Given the description of an element on the screen output the (x, y) to click on. 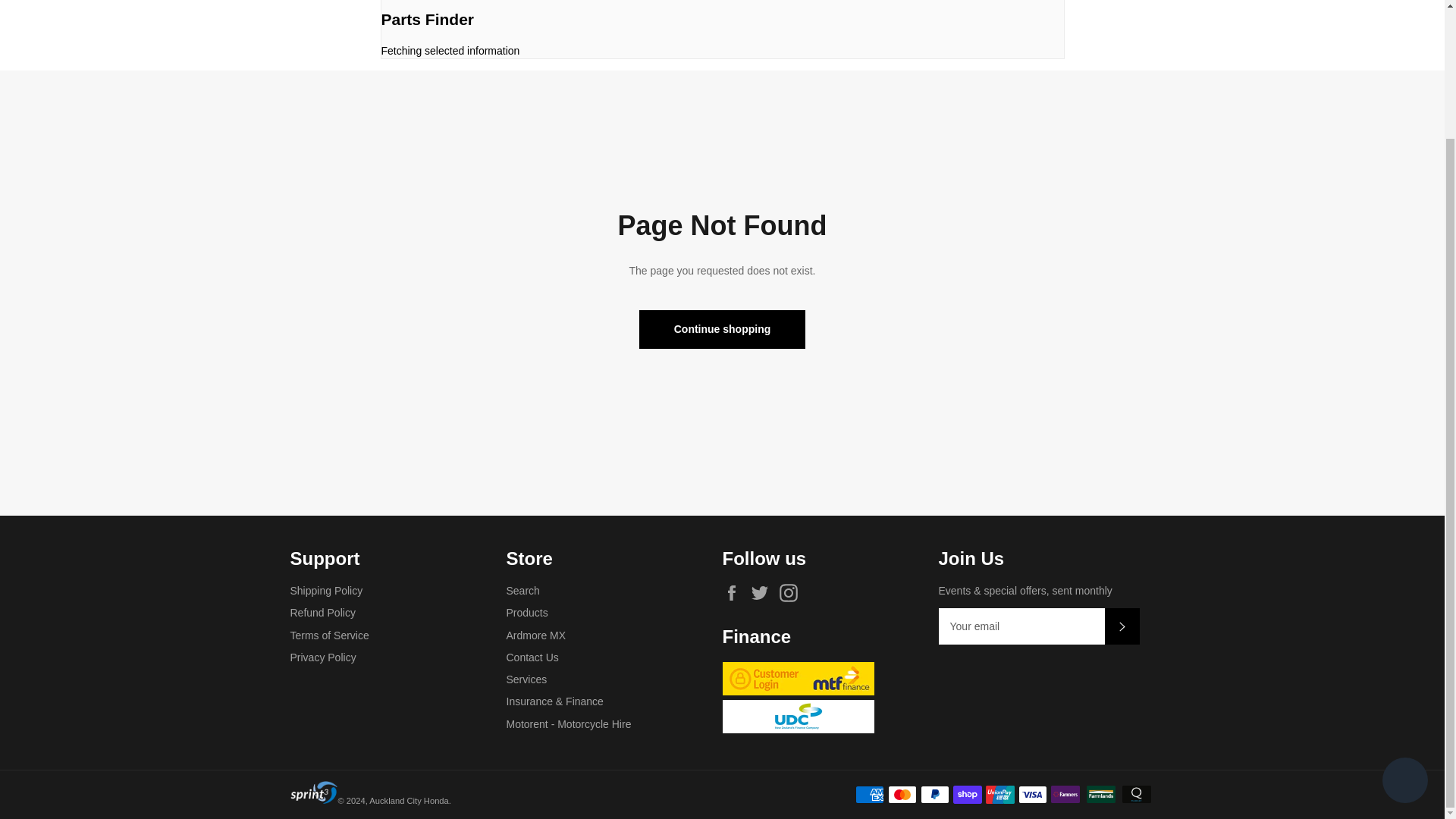
Auckland City Honda on Twitter (763, 592)
Shopify online store chat (1404, 626)
Auckland City Honda on Facebook (735, 592)
Auckland City Honda on Instagram (791, 592)
My image (313, 792)
